Given the description of an element on the screen output the (x, y) to click on. 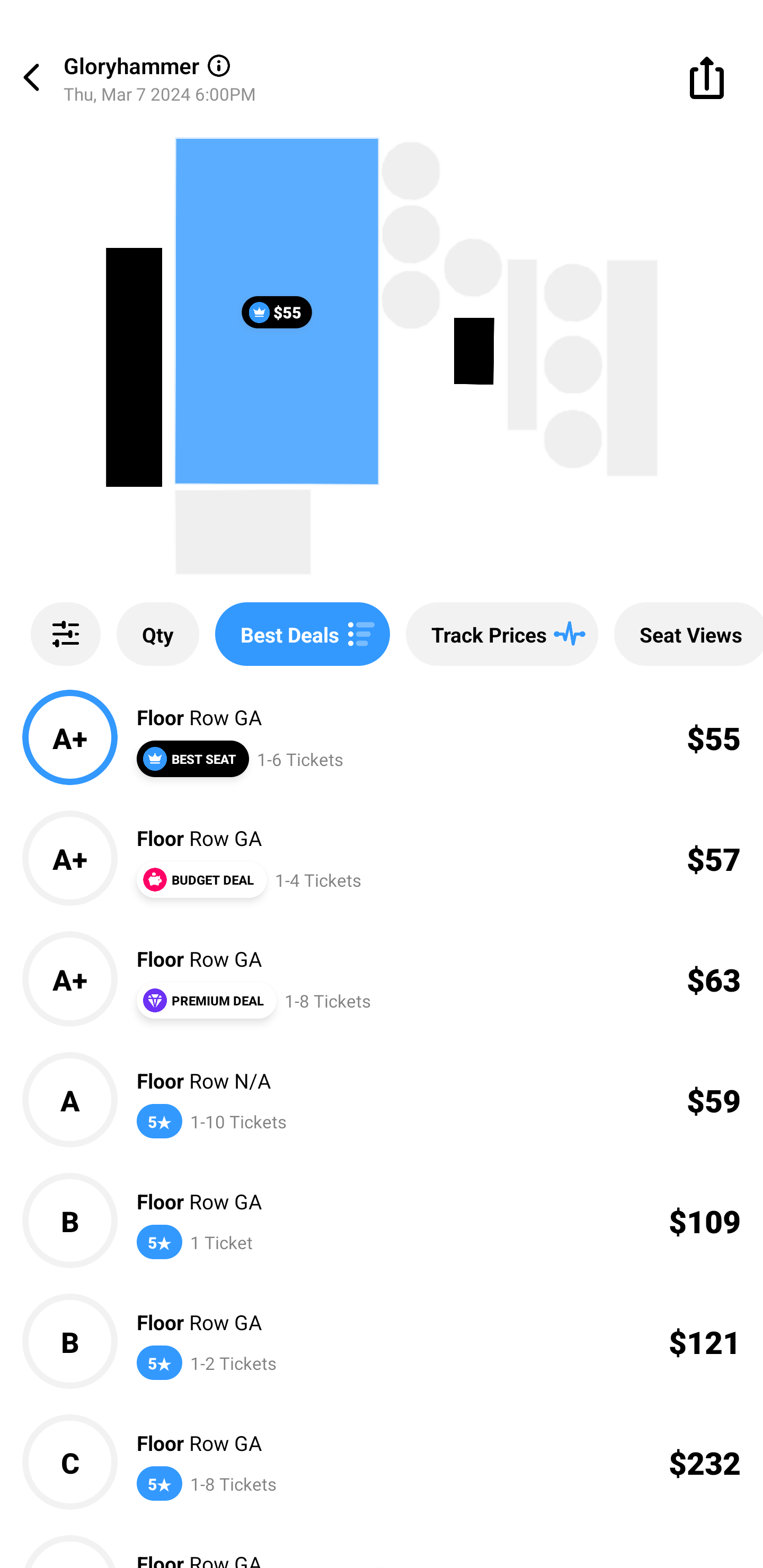
$55 (276, 311)
Qty (157, 634)
Best Deals (302, 634)
Track Prices (501, 634)
Seat Views (688, 634)
BEST SEAT (192, 758)
BUDGET DEAL (201, 879)
PREMIUM DEAL (206, 1000)
